Given the description of an element on the screen output the (x, y) to click on. 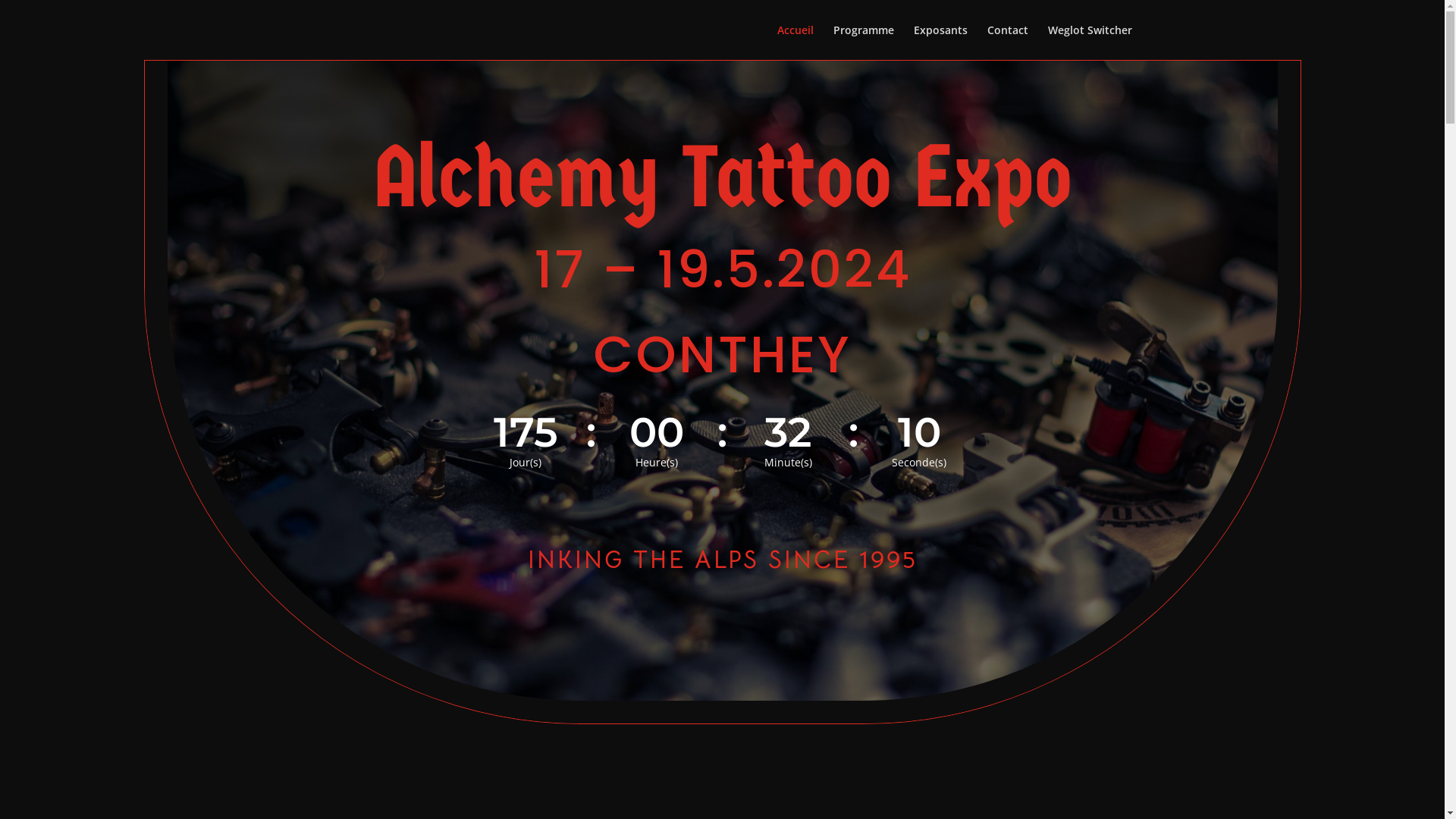
Contact Element type: text (1007, 42)
Accueil Element type: text (794, 42)
Programme Element type: text (862, 42)
Exposants Element type: text (939, 42)
Weglot Switcher Element type: text (1090, 42)
